Given the description of an element on the screen output the (x, y) to click on. 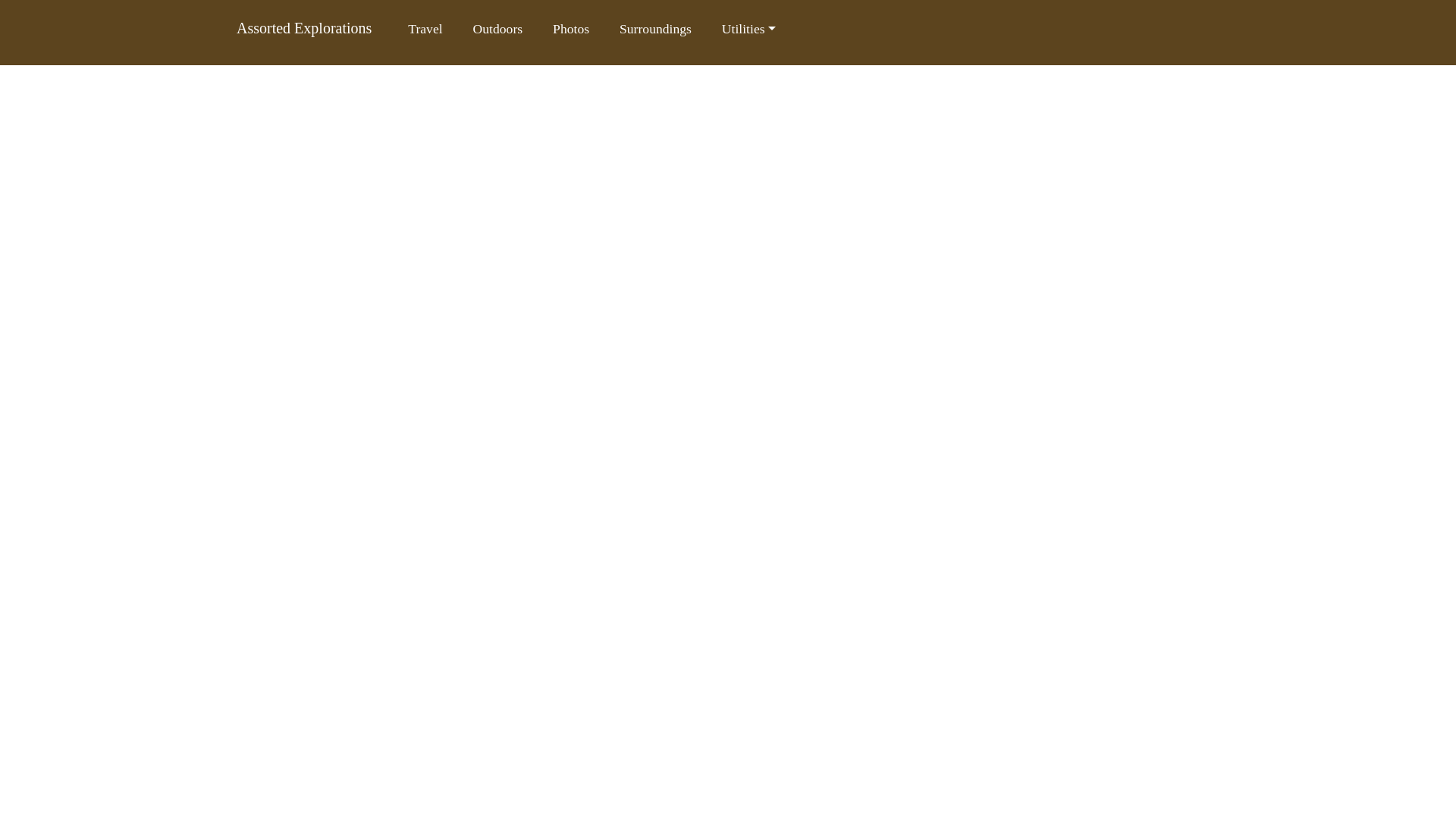
Photos (571, 29)
Travel (424, 29)
Outdoors (498, 29)
Utilities (748, 29)
Assorted Explorations (303, 27)
Surroundings (654, 29)
